Given the description of an element on the screen output the (x, y) to click on. 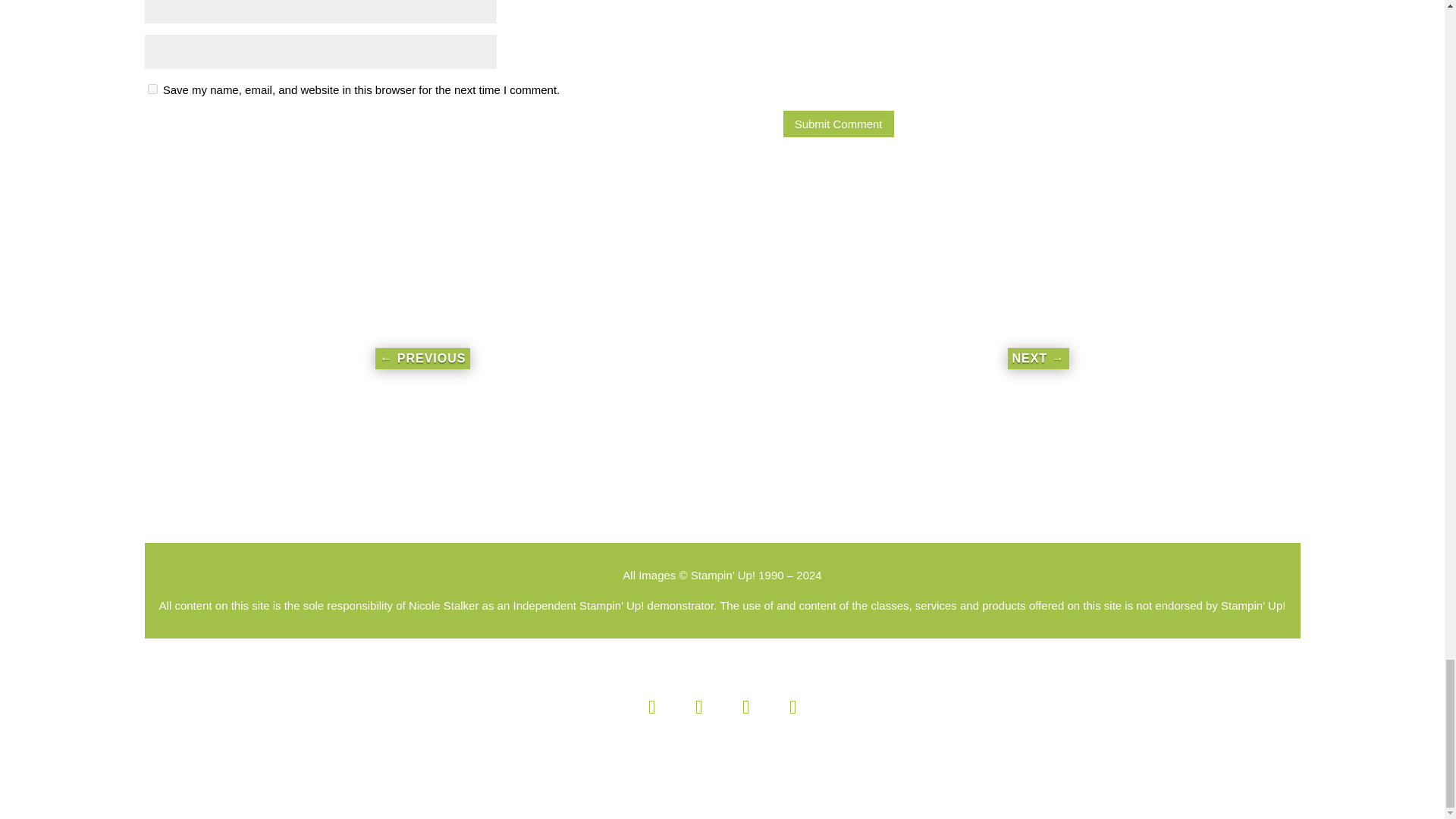
Follow on Pinterest (745, 707)
Follow on Instagram (698, 707)
Submit Comment (838, 123)
Follow on X (791, 707)
Follow on Facebook (650, 707)
yes (152, 89)
